Given the description of an element on the screen output the (x, y) to click on. 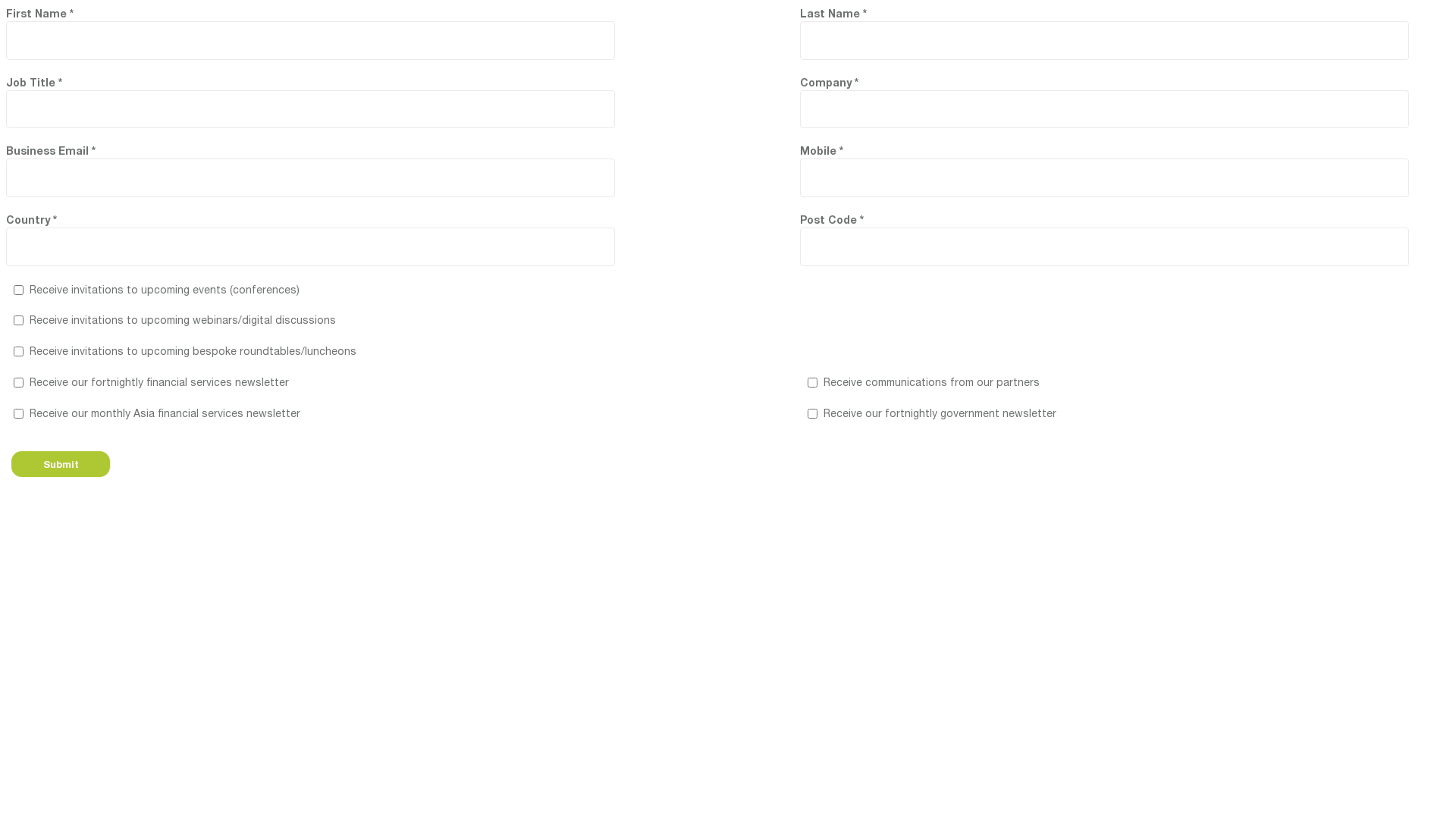
Submit Element type: text (60, 463)
